Given the description of an element on the screen output the (x, y) to click on. 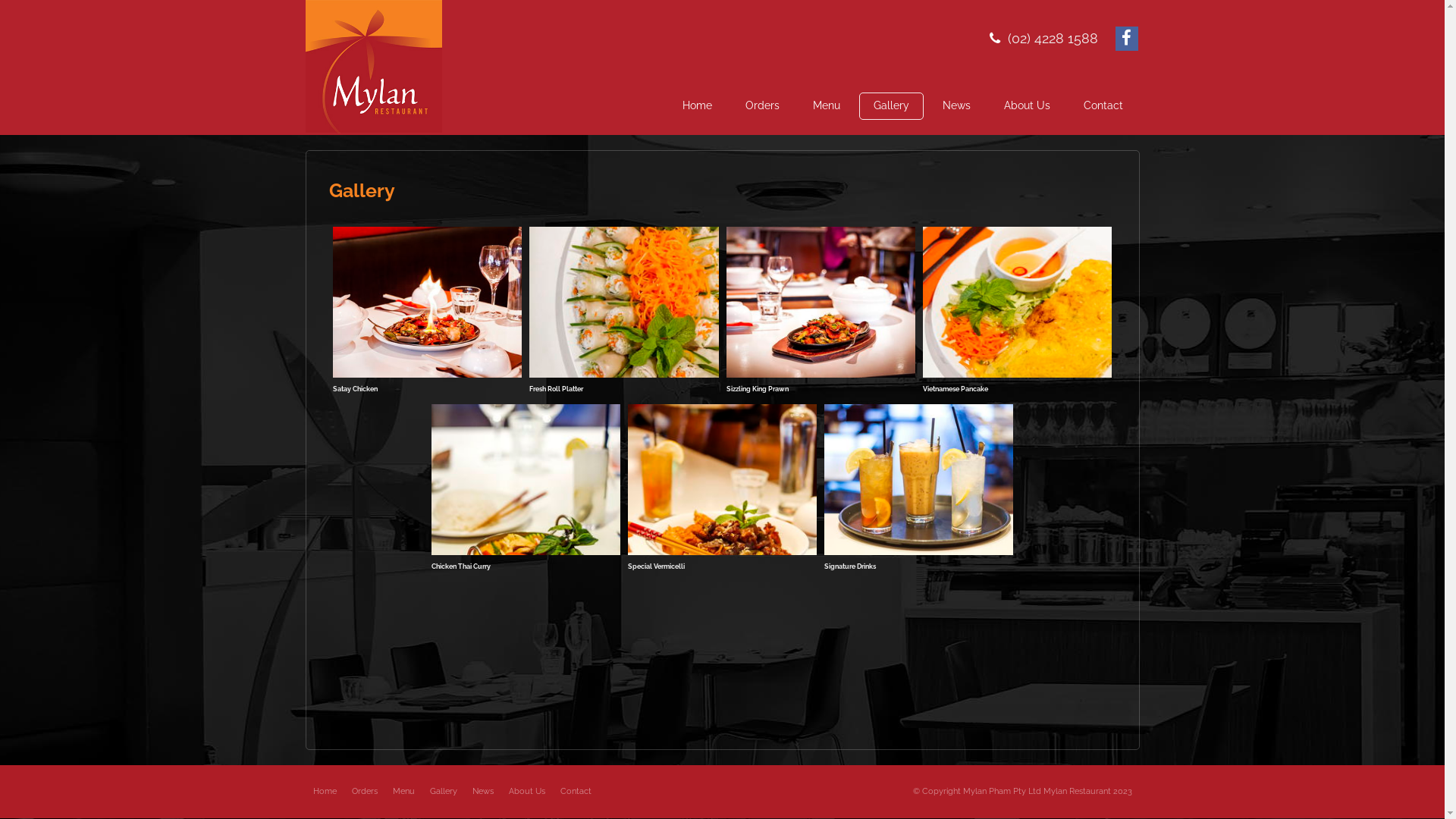
Gallery Element type: text (890, 105)
Menu Element type: text (825, 105)
Menu Element type: text (403, 791)
(02) 4228 1588 Element type: text (1052, 38)
Contact Element type: text (1103, 105)
Orders Element type: text (762, 105)
Gallery Element type: text (442, 791)
Home Element type: text (323, 791)
Home Element type: text (696, 105)
Orders Element type: text (364, 791)
Contact Element type: text (575, 791)
News Element type: text (956, 105)
About Us Element type: text (1025, 105)
About Us Element type: text (526, 791)
News Element type: text (482, 791)
